Given the description of an element on the screen output the (x, y) to click on. 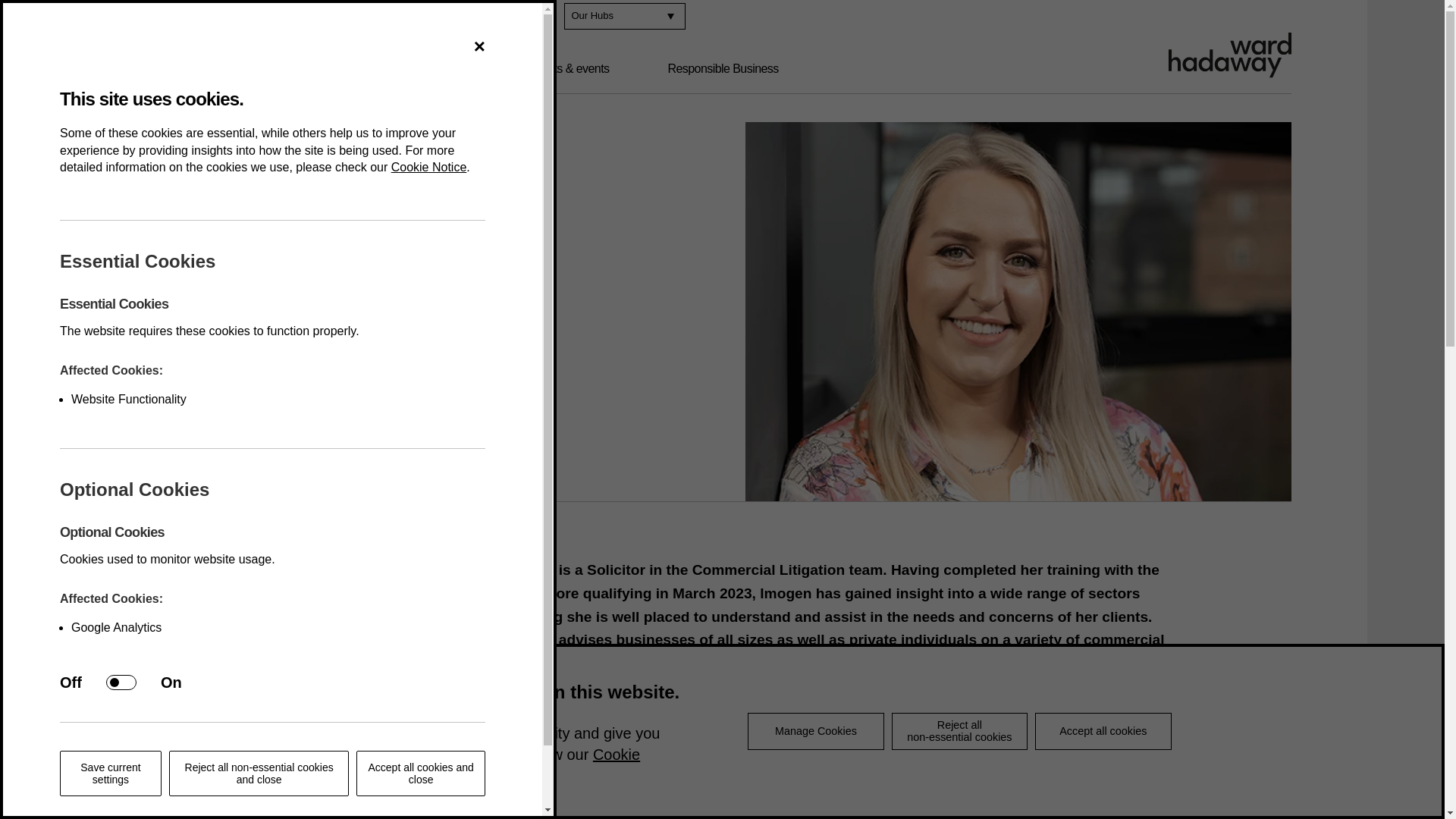
Get in touch (305, 16)
Email Imogen (310, 635)
Join us (222, 16)
Home (164, 273)
Download vCard (317, 658)
Accessibility (399, 16)
Who we are (202, 68)
What we do (321, 68)
Follow Ward Hadaway on Vimeo (537, 16)
Join us (222, 16)
Accessibility (399, 16)
Our people (437, 68)
Follow Ward Hadaway on Twitter (505, 16)
Get in touch (305, 16)
Our people (216, 273)
